Given the description of an element on the screen output the (x, y) to click on. 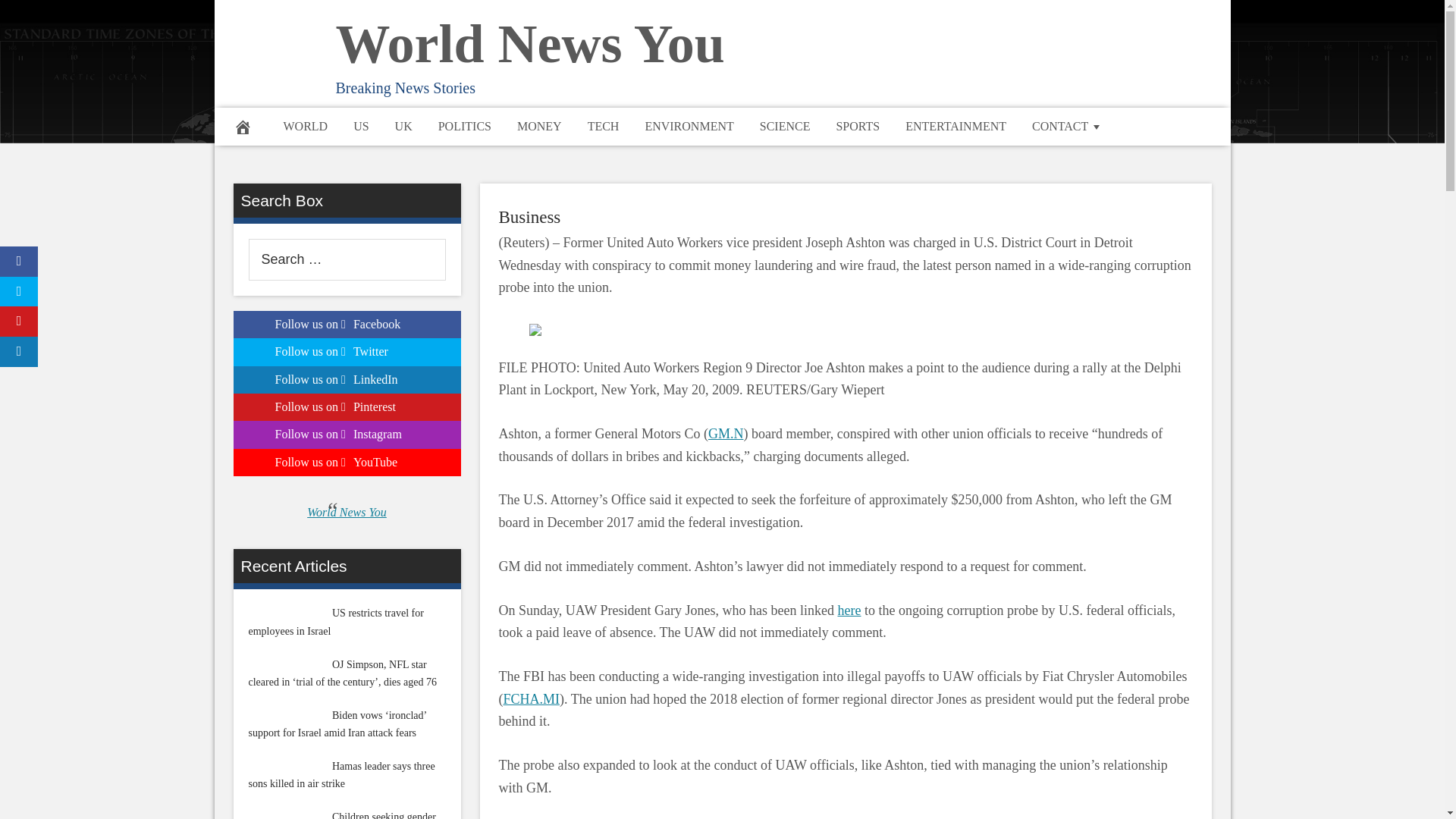
Business (529, 217)
POLITICS (464, 126)
ENTERTAINMENT (955, 126)
SCIENCE (785, 126)
World News You (528, 43)
CONTACT (1067, 126)
WORLD (304, 126)
